Given the description of an element on the screen output the (x, y) to click on. 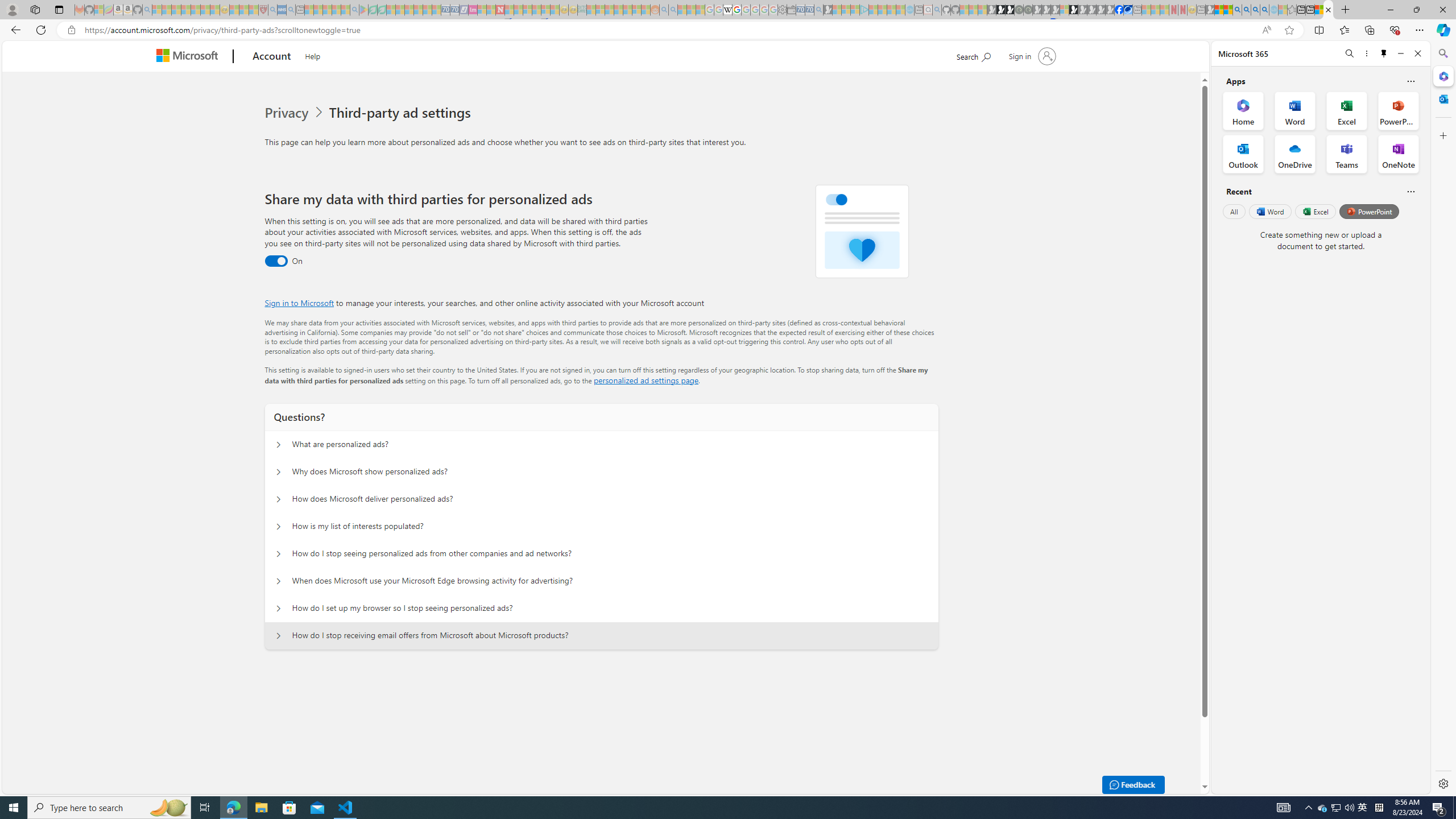
PowerPoint Office App (1398, 110)
PowerPoint (1369, 210)
